Given the description of an element on the screen output the (x, y) to click on. 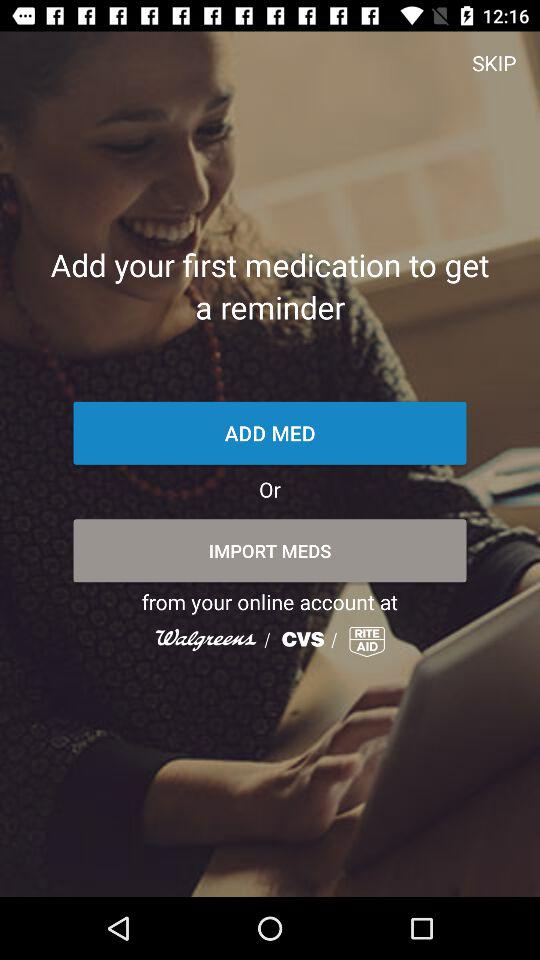
turn off icon below or icon (269, 550)
